Given the description of an element on the screen output the (x, y) to click on. 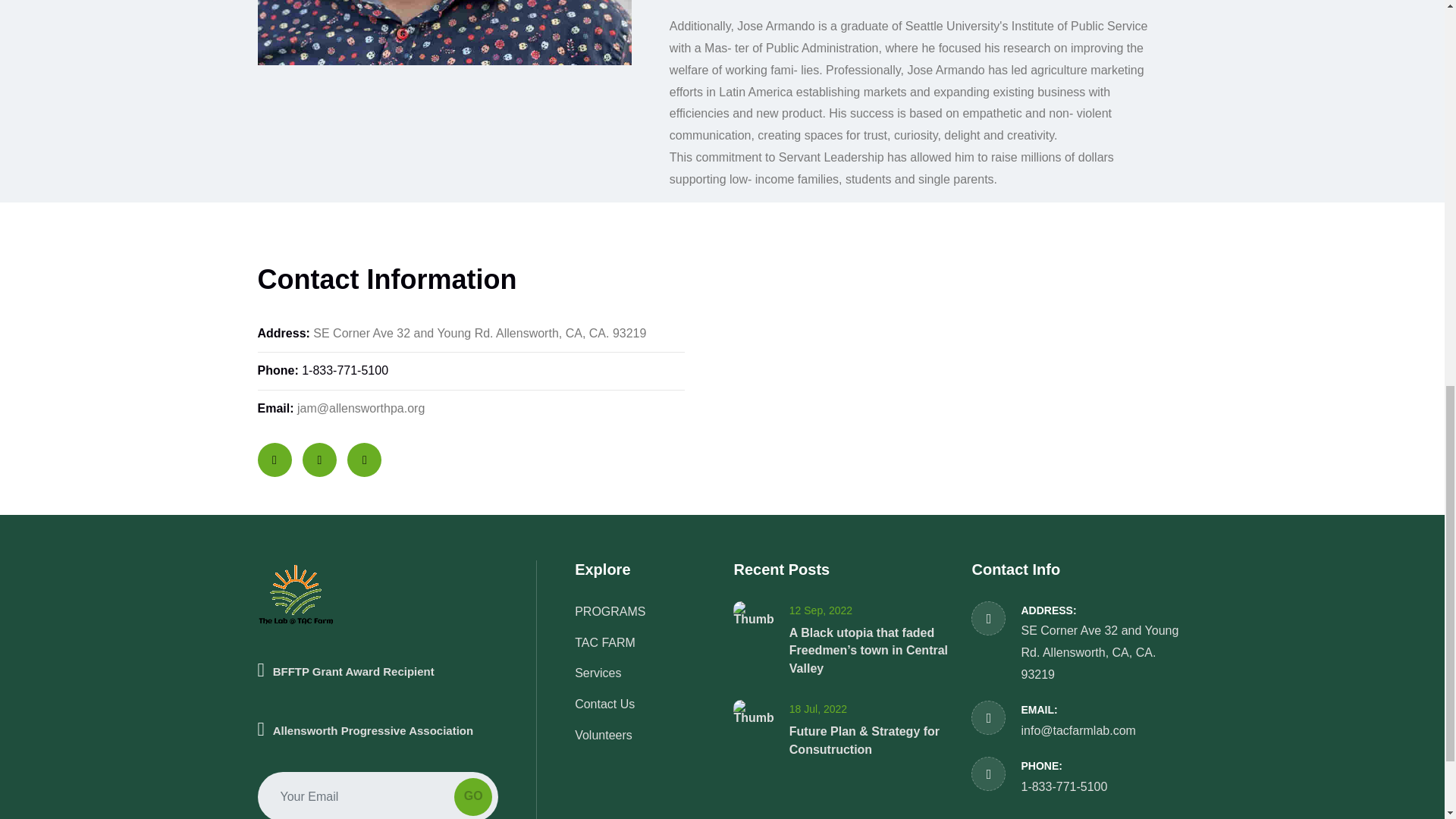
1-833-771-5100 (344, 369)
Allensworth Progressive Association (378, 730)
Services (598, 672)
PROGRAMS (610, 611)
TAC FARM (604, 642)
BFFTP Grant Award Recipient (378, 706)
Volunteers (603, 735)
GO (473, 796)
Contact Us (604, 703)
1-833-771-5100 (1063, 786)
